Given the description of an element on the screen output the (x, y) to click on. 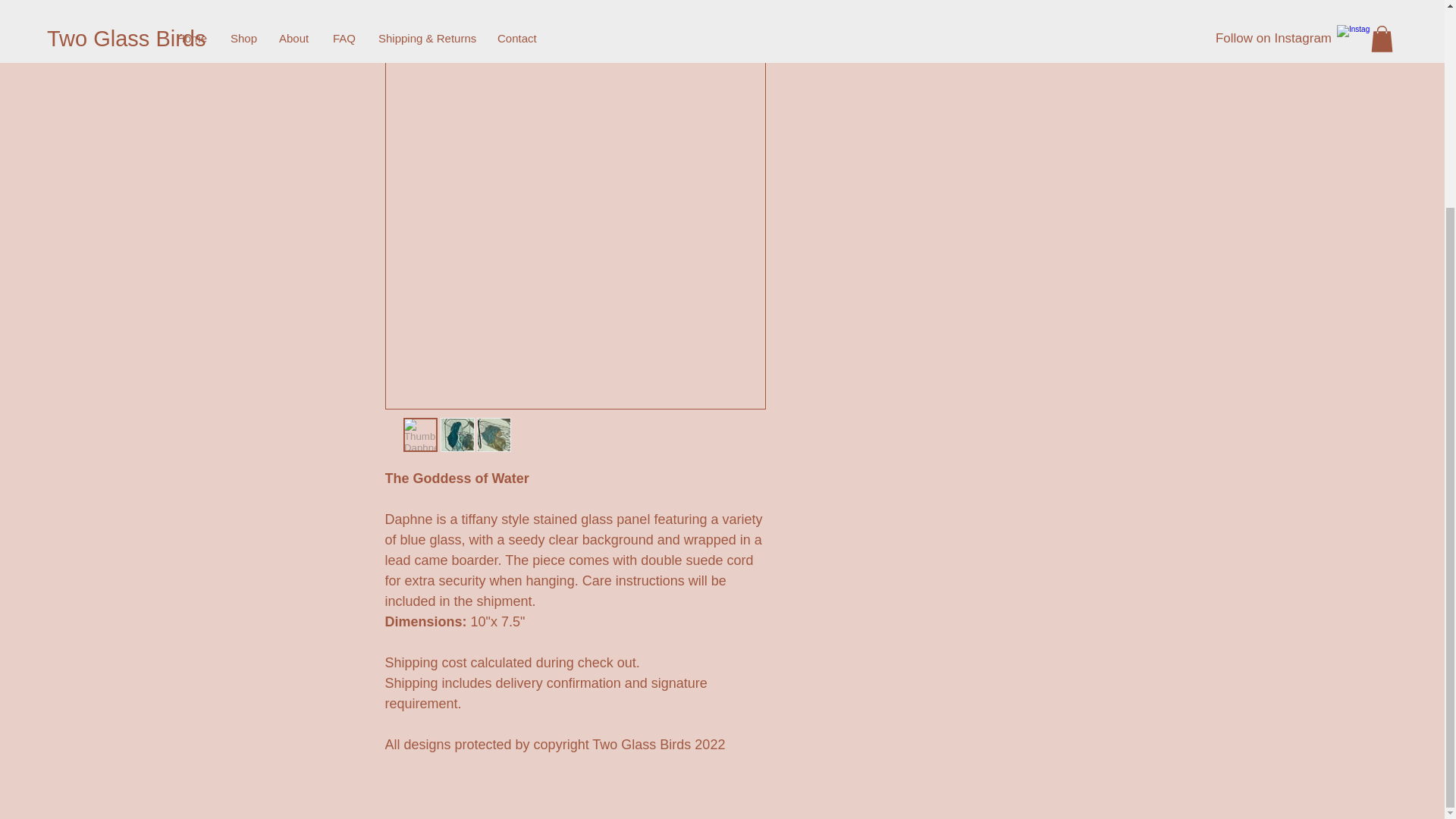
Out of Stock (905, 5)
